Given the description of an element on the screen output the (x, y) to click on. 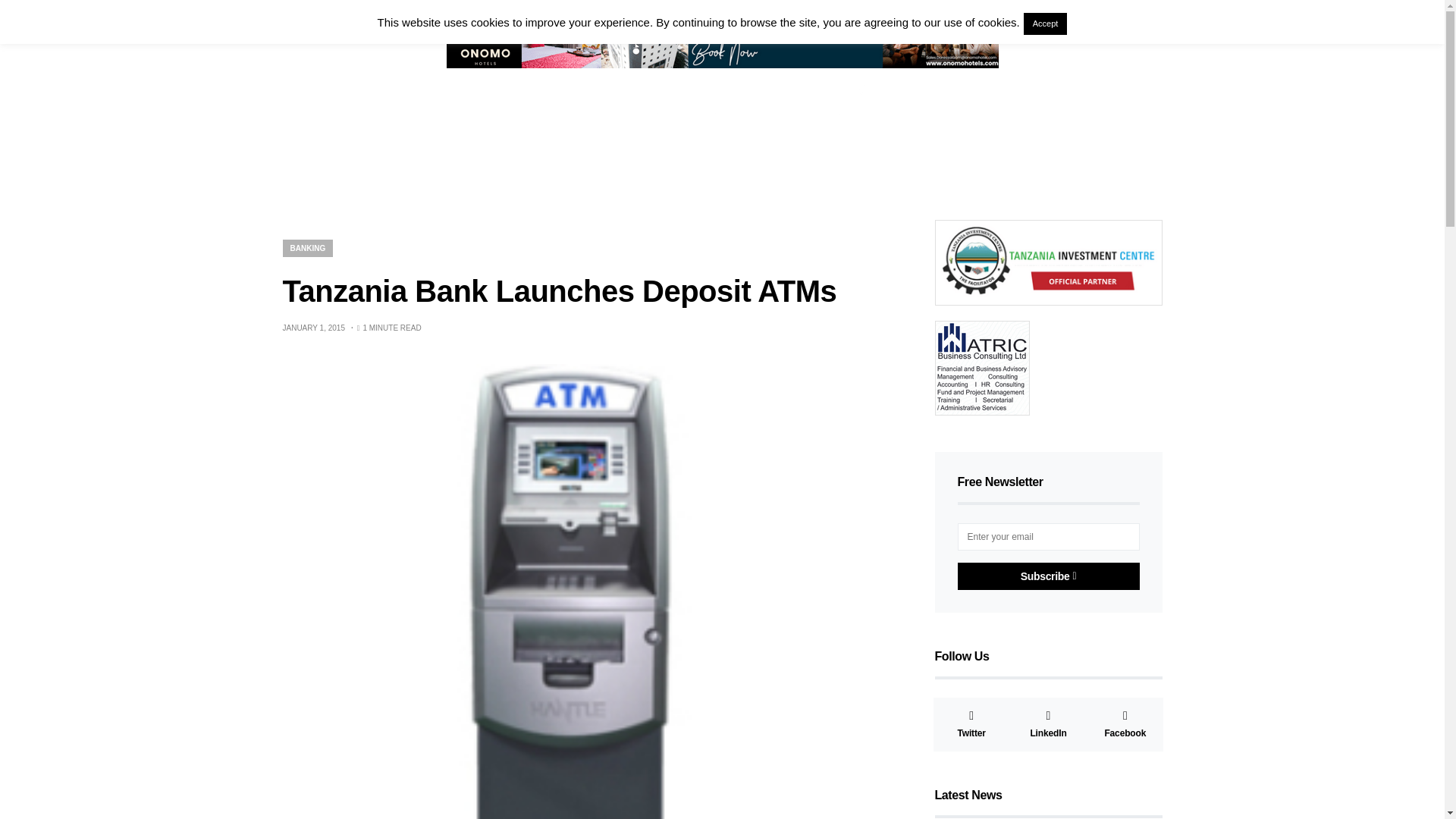
TIC Tanzania Investment Centre (1048, 260)
